Given the description of an element on the screen output the (x, y) to click on. 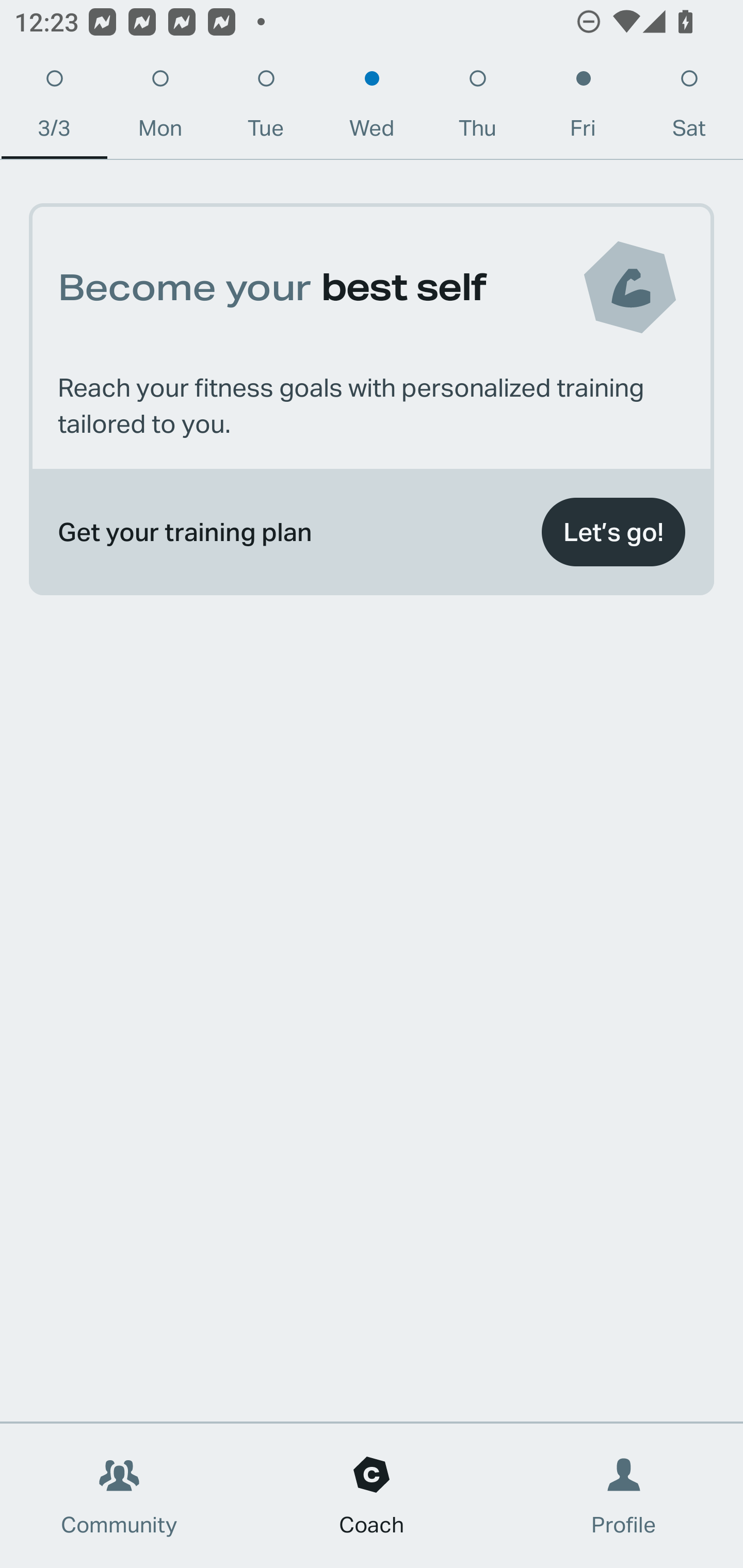
3/3 (53, 108)
Mon (159, 108)
Tue (265, 108)
Wed (371, 108)
Thu (477, 108)
Fri (583, 108)
Sat (689, 108)
Let’s go! (613, 532)
Community (119, 1495)
Profile (624, 1495)
